Given the description of an element on the screen output the (x, y) to click on. 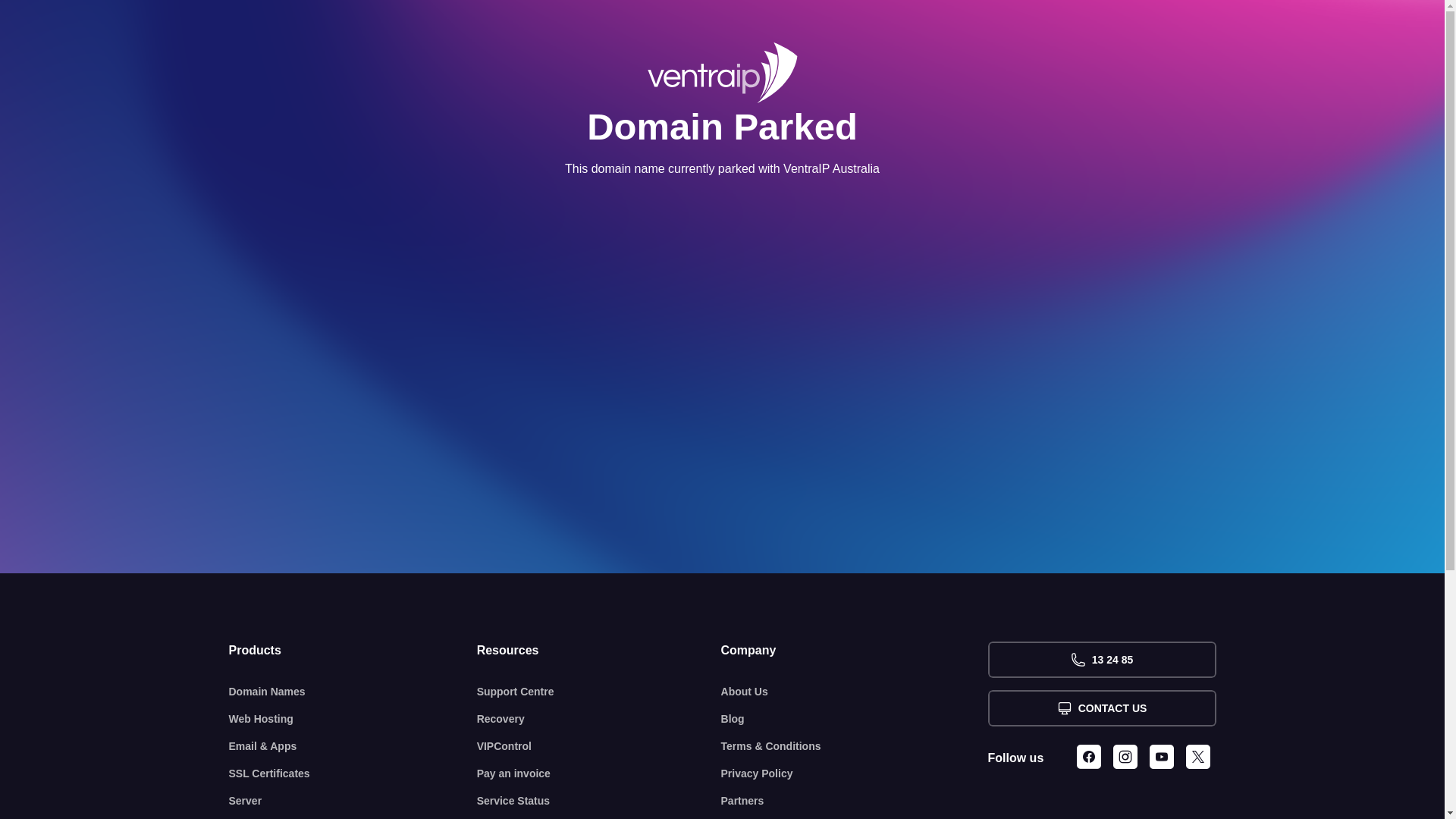
Support Centre Element type: text (598, 691)
About Us Element type: text (854, 691)
SSL Certificates Element type: text (352, 773)
Domain Names Element type: text (352, 691)
Server Element type: text (352, 800)
Blog Element type: text (854, 718)
Service Status Element type: text (598, 800)
Recovery Element type: text (598, 718)
Web Hosting Element type: text (352, 718)
Terms & Conditions Element type: text (854, 745)
Email & Apps Element type: text (352, 745)
13 24 85 Element type: text (1101, 659)
CONTACT US Element type: text (1101, 708)
Privacy Policy Element type: text (854, 773)
Partners Element type: text (854, 800)
Pay an invoice Element type: text (598, 773)
VIPControl Element type: text (598, 745)
